Given the description of an element on the screen output the (x, y) to click on. 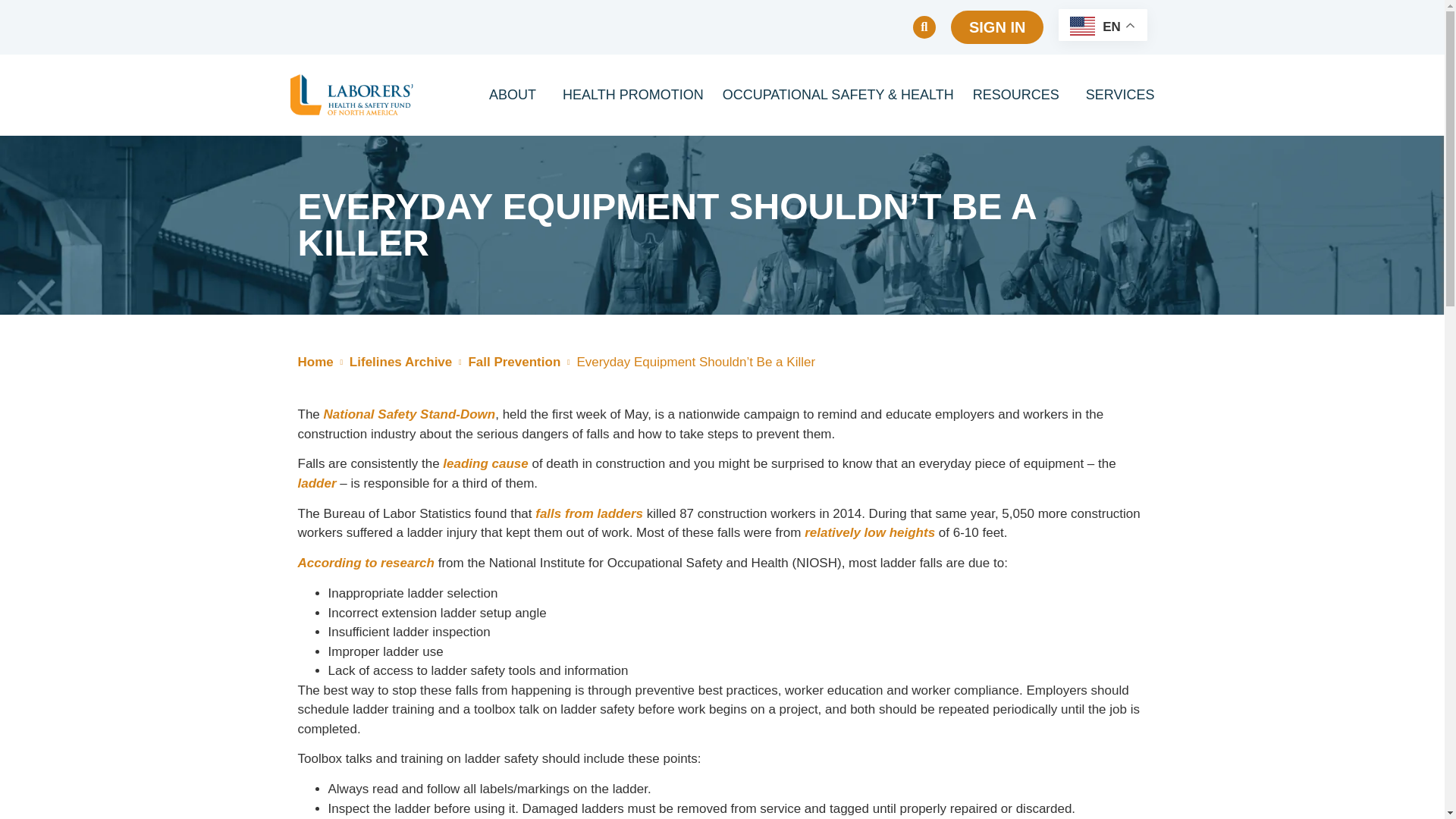
SIGN IN (996, 27)
ABOUT (516, 94)
RESOURCES (1019, 94)
SERVICES (1120, 94)
HEALTH PROMOTION (632, 94)
